Given the description of an element on the screen output the (x, y) to click on. 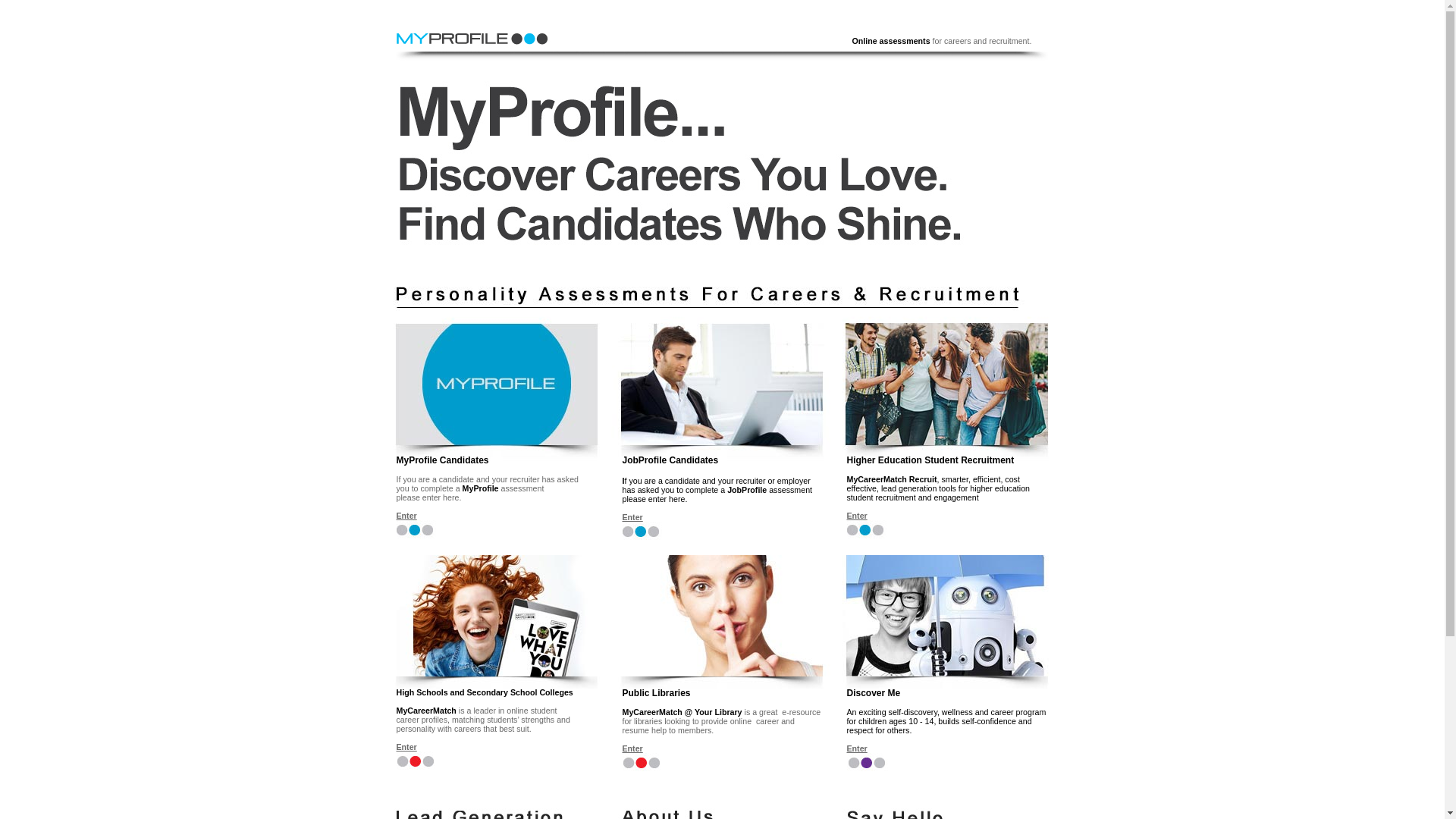
Enter Element type: text (405, 515)
Enter Element type: text (405, 746)
Enter Element type: text (631, 516)
Enter Element type: text (856, 515)
Enter Element type: text (631, 748)
Enter Element type: text (856, 748)
